Given the description of an element on the screen output the (x, y) to click on. 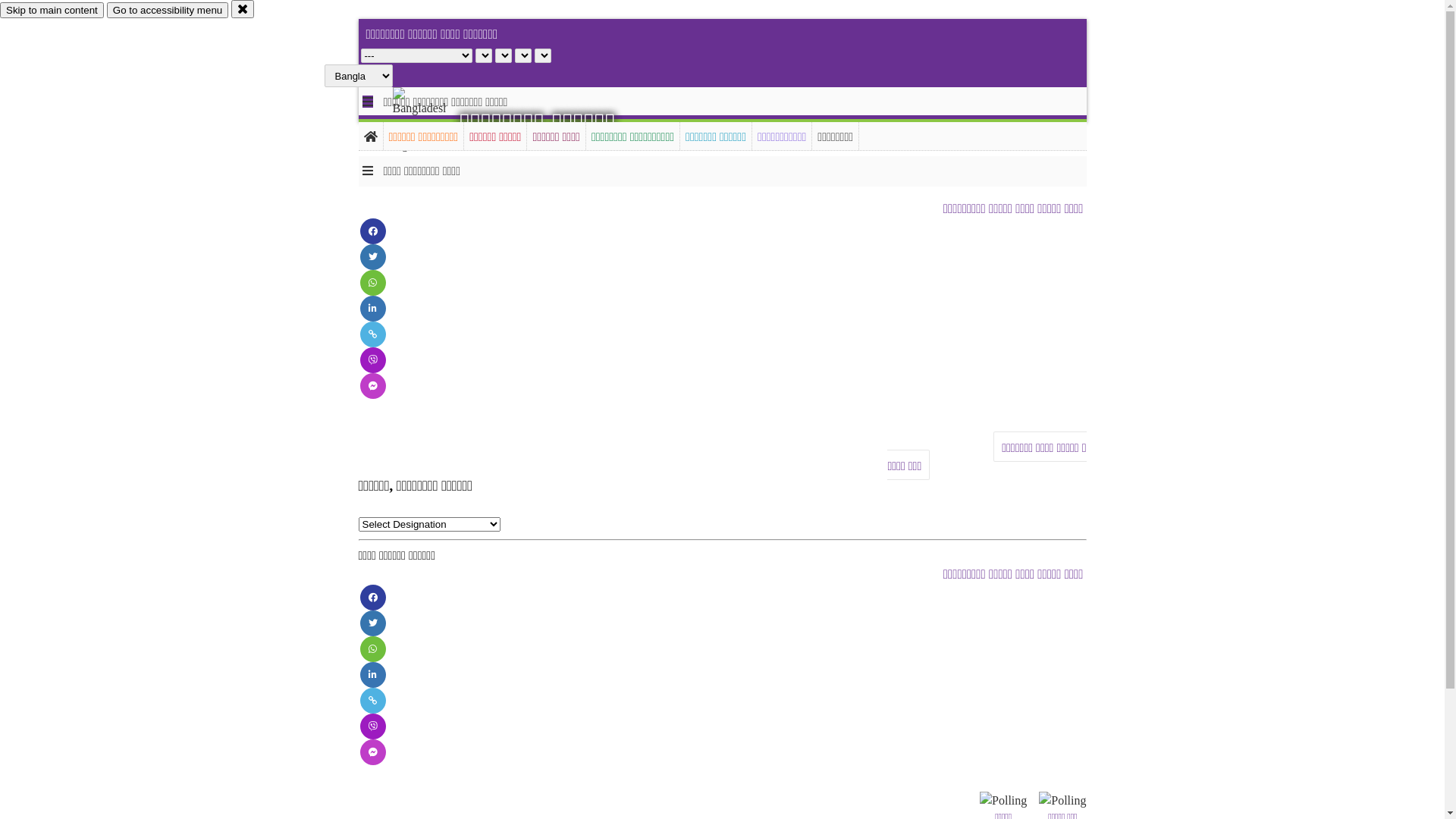
Skip to main content Element type: text (51, 10)
Go to accessibility menu Element type: text (167, 10)

                
             Element type: hover (431, 120)
close Element type: hover (242, 9)
